Given the description of an element on the screen output the (x, y) to click on. 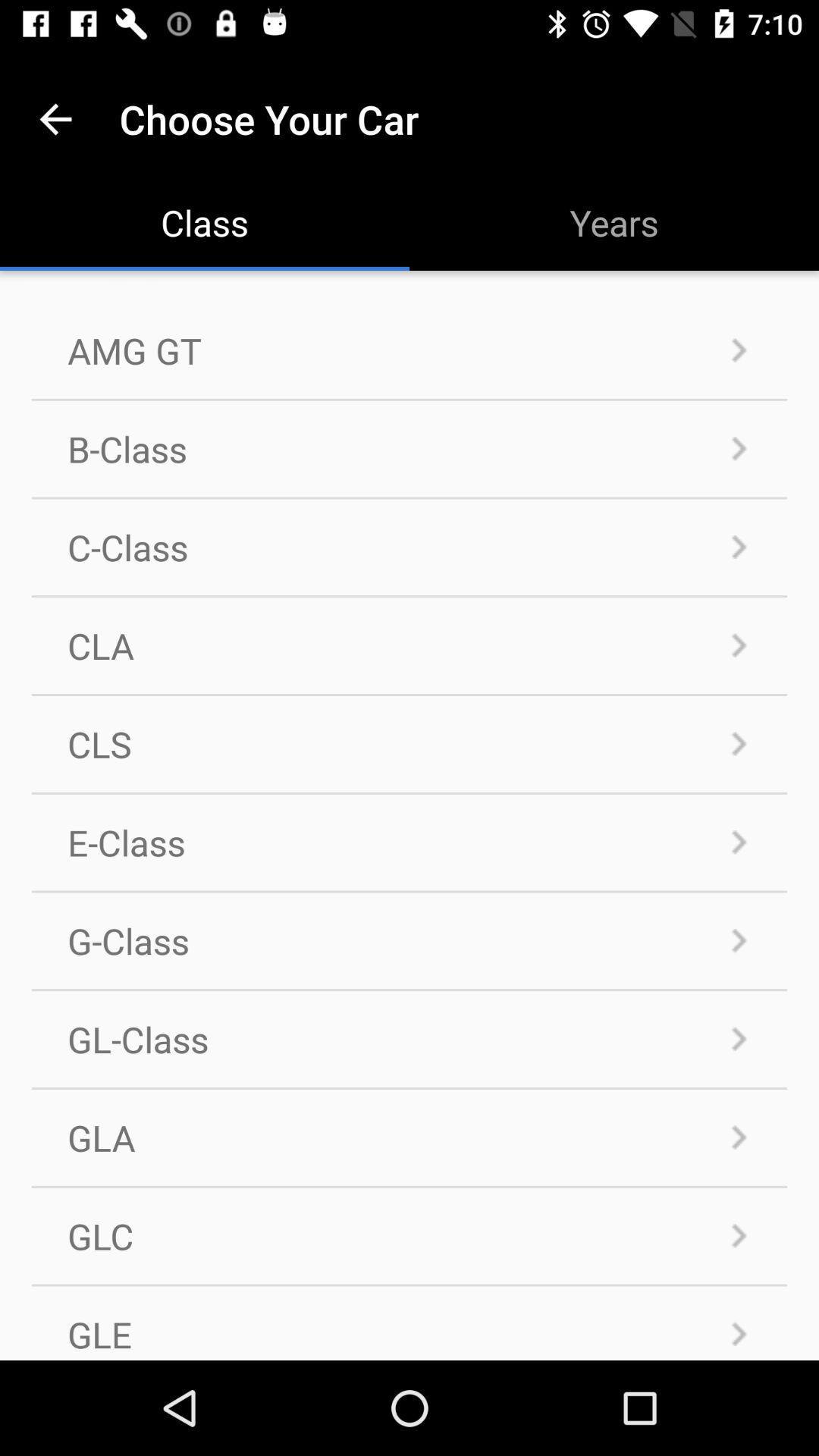
launch the item above amg gt icon (55, 119)
